Given the description of an element on the screen output the (x, y) to click on. 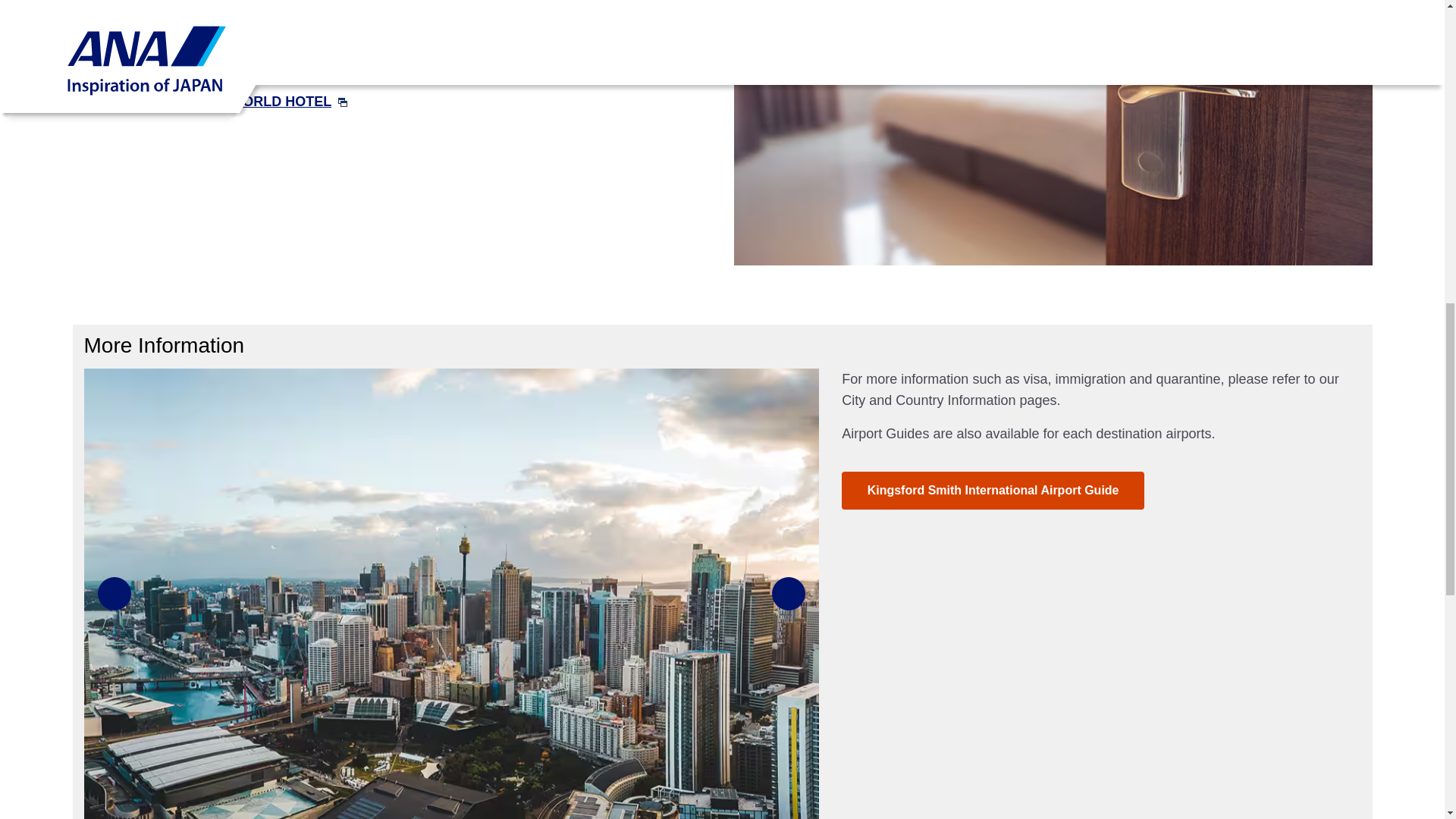
Previous (114, 593)
See more hotels at ANA WORLD HOTEL (215, 101)
Next (788, 593)
Kingsford Smith International Airport Guide (991, 490)
